Given the description of an element on the screen output the (x, y) to click on. 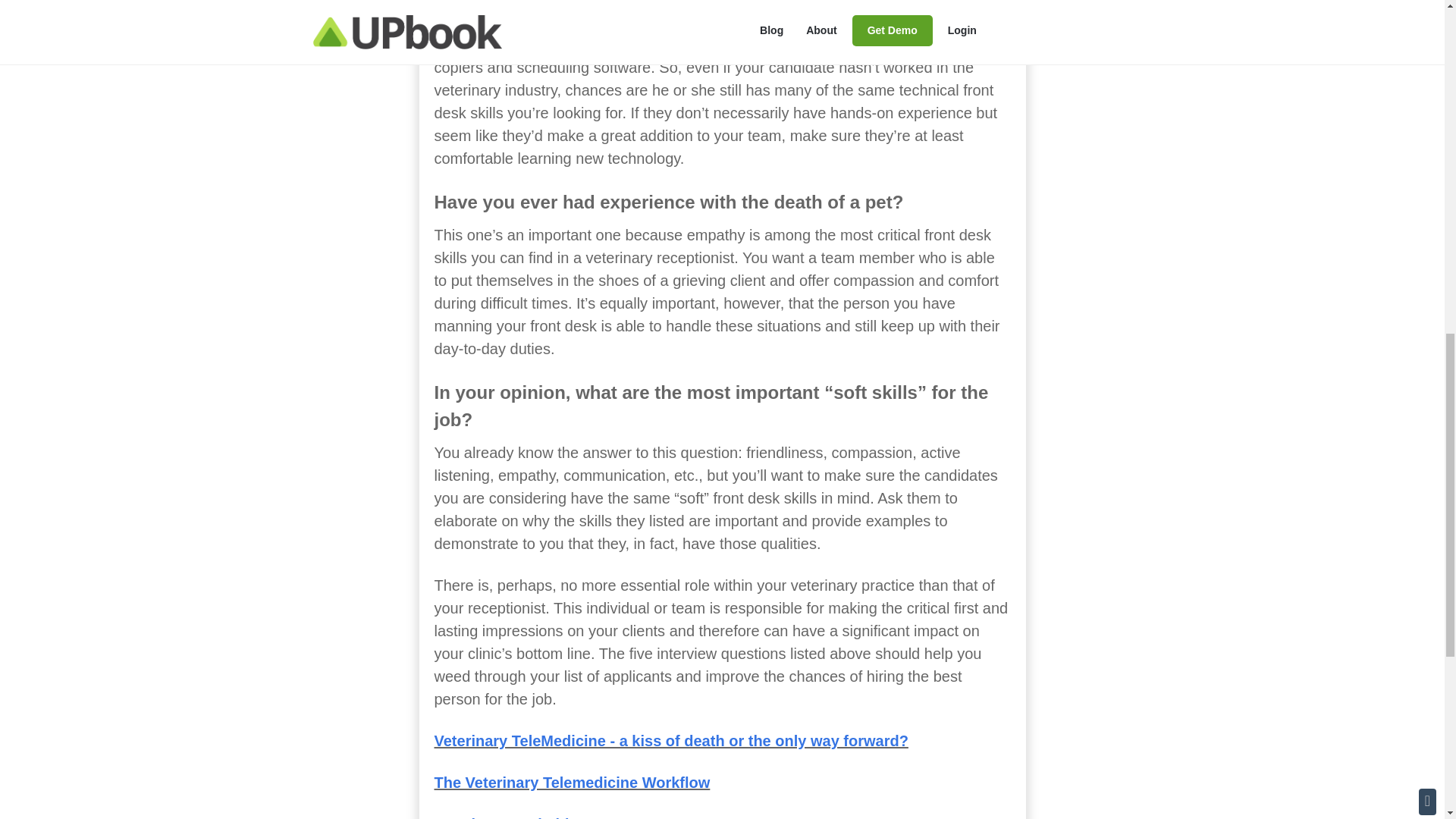
Veterinary Curbside Is Here To Stay (561, 817)
The Veterinary Telemedicine Workflow (571, 782)
